Given the description of an element on the screen output the (x, y) to click on. 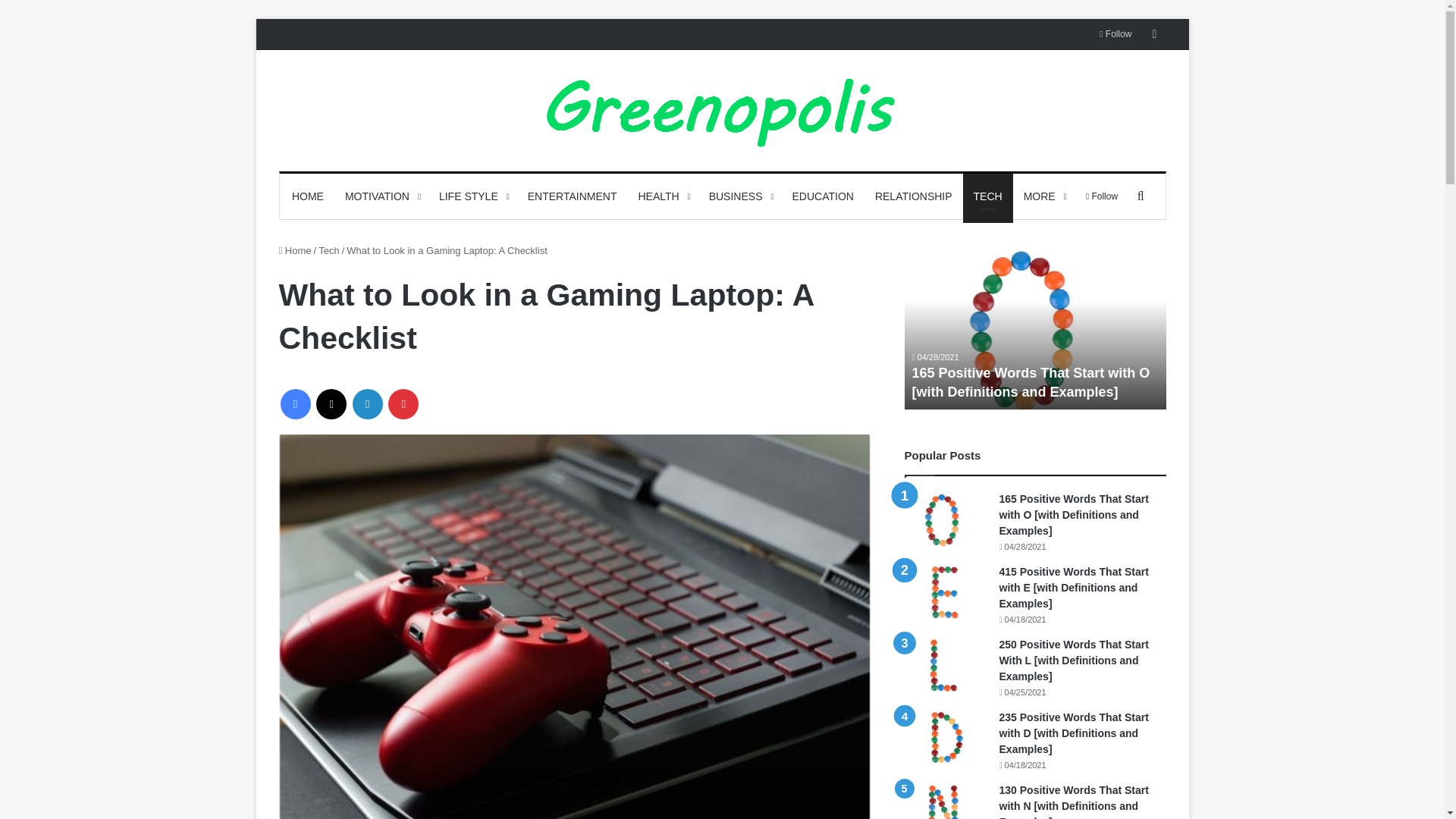
MOTIVATION (381, 196)
ENTERTAINMENT (571, 196)
HOME (307, 196)
HEALTH (662, 196)
Pinterest (403, 404)
Facebook (296, 404)
LinkedIn (367, 404)
LIFE STYLE (472, 196)
Follow (1114, 33)
Greenopolis (721, 110)
